Given the description of an element on the screen output the (x, y) to click on. 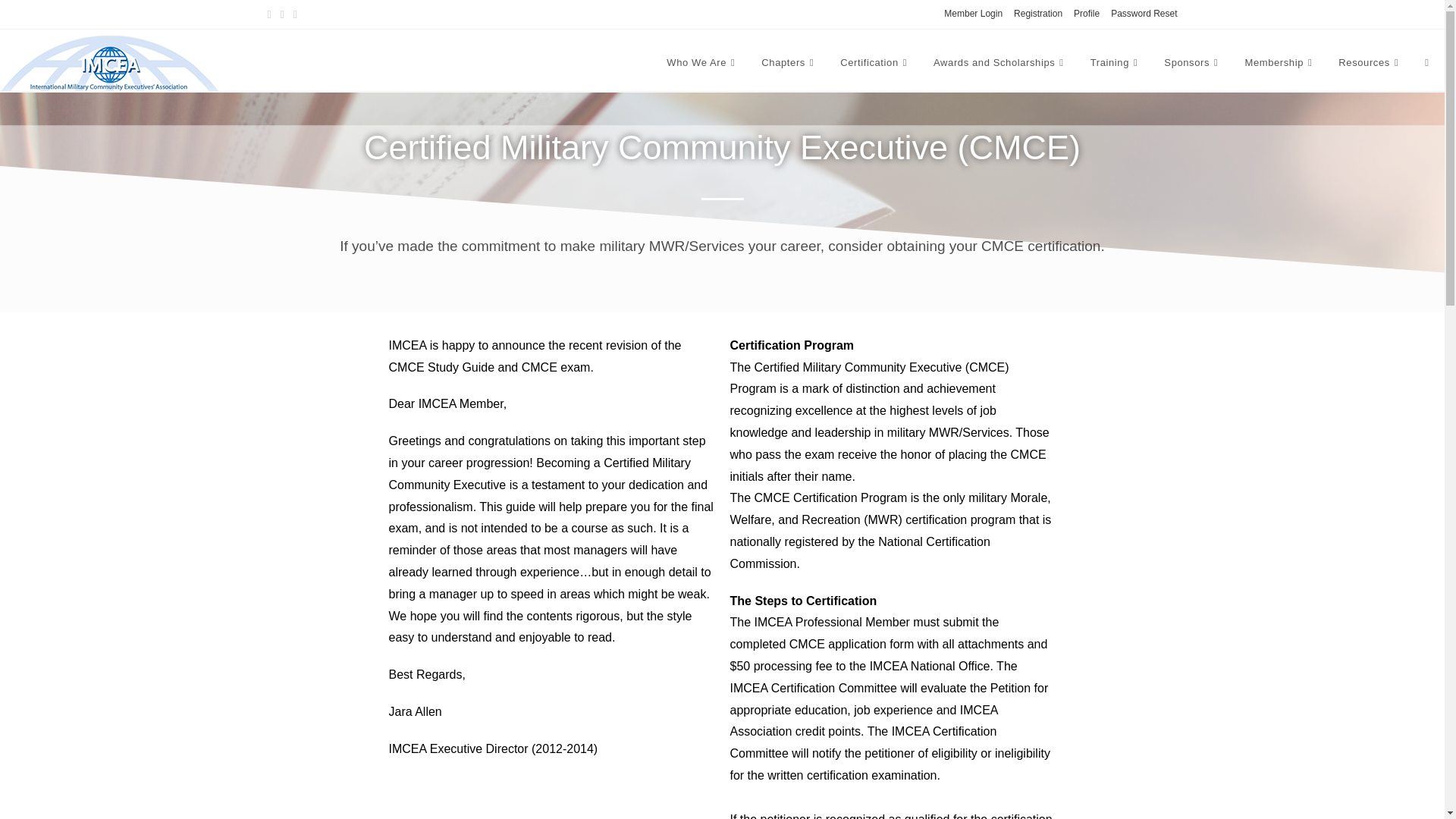
Member Login (973, 13)
Registration (1037, 13)
Profile (1086, 13)
Sponsors (1193, 62)
Awards and Scholarships (999, 62)
Password Reset (1143, 13)
Training (1115, 62)
Membership (1279, 62)
Who We Are (702, 62)
Chapters (788, 62)
Certification (874, 62)
